Given the description of an element on the screen output the (x, y) to click on. 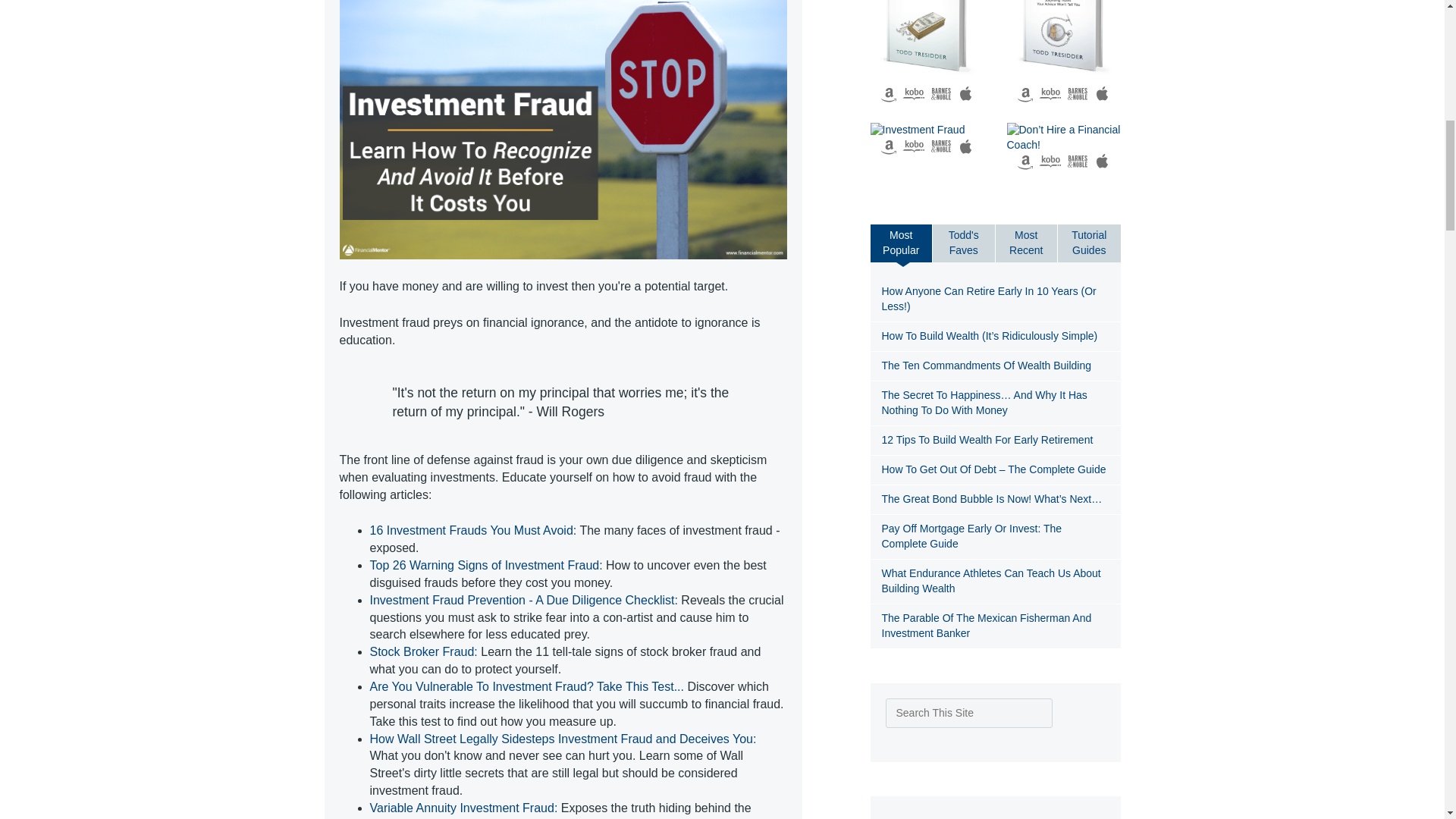
Are You Vulnerable To Investment Fraud? Take This Test... (526, 686)
Variable Annuity Investment Fraud (463, 807)
16 Investment Frauds You Must Avoid (471, 530)
Stock Broker Investment Fraud (423, 651)
Investment Fraud Prevention Due Diligence Checklist (523, 599)
4 Rule Safe Withdrawal Rate (927, 42)
Variable Annuity Investment Fraud: (463, 807)
Variable Annuity Pros and Cons (1064, 42)
Investment Fraud Test (526, 686)
